Given the description of an element on the screen output the (x, y) to click on. 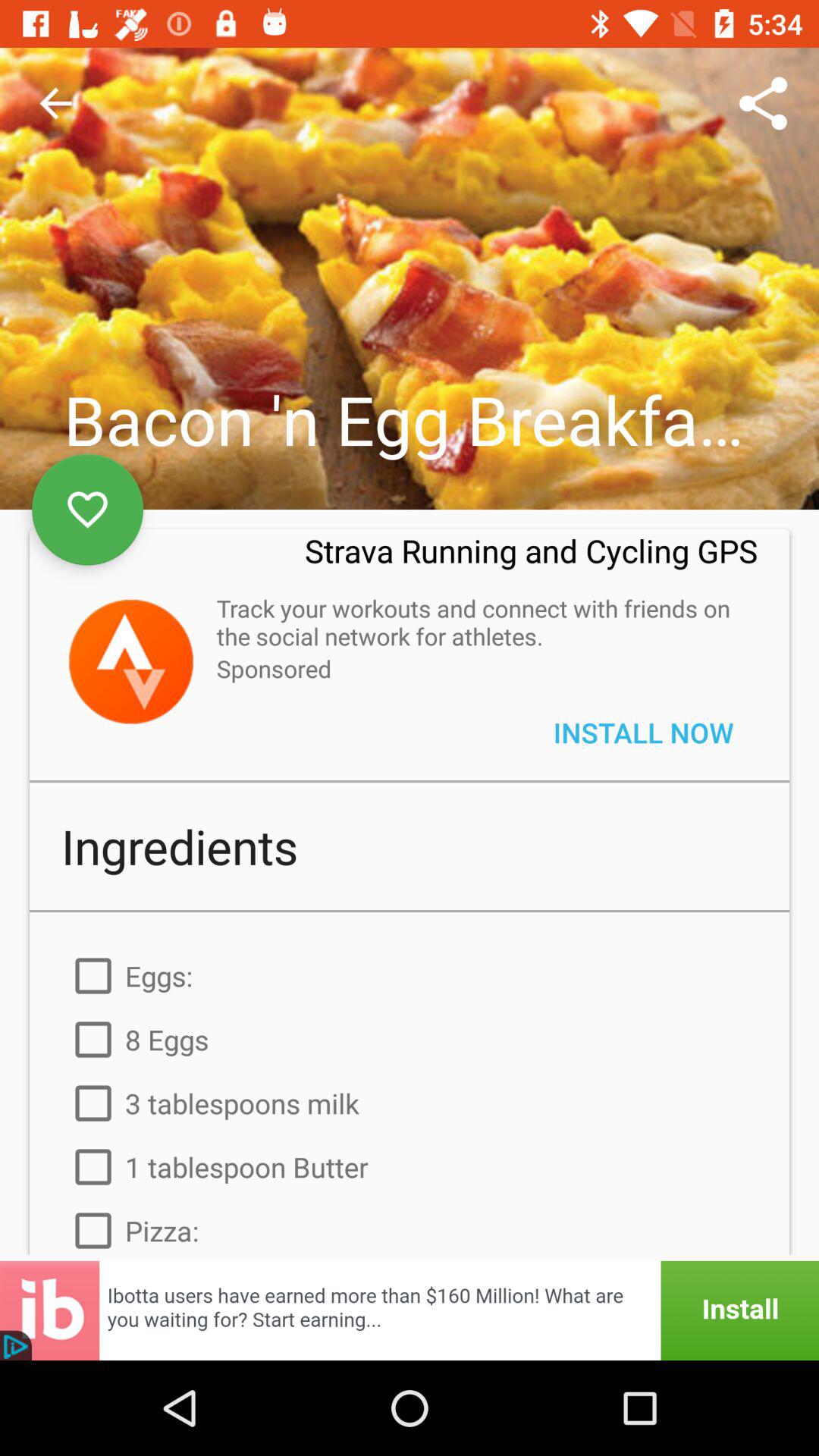
click to like (87, 509)
